Given the description of an element on the screen output the (x, y) to click on. 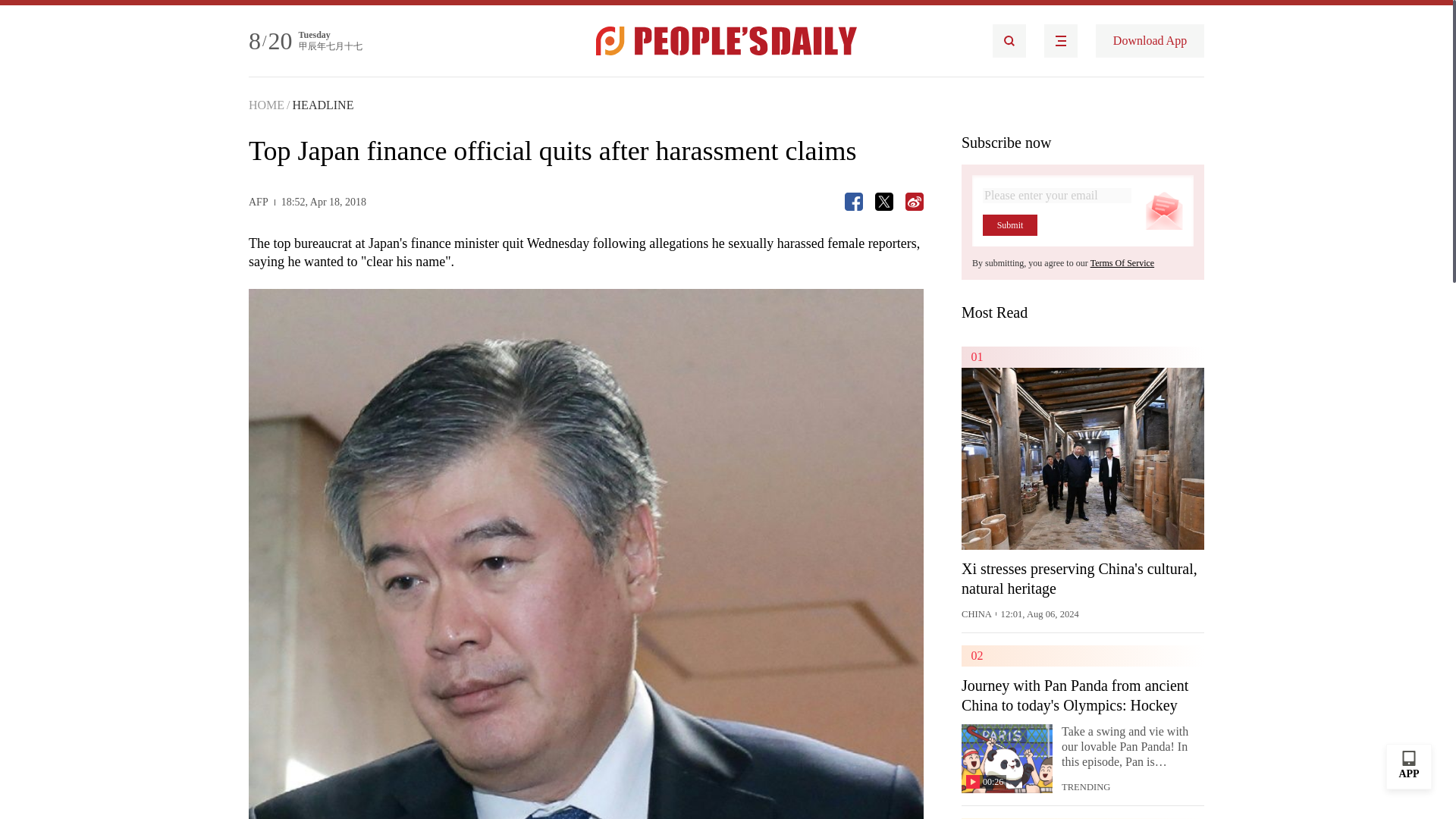
Terms Of Service (1122, 262)
HOME (265, 105)
Download App (1150, 40)
